Given the description of an element on the screen output the (x, y) to click on. 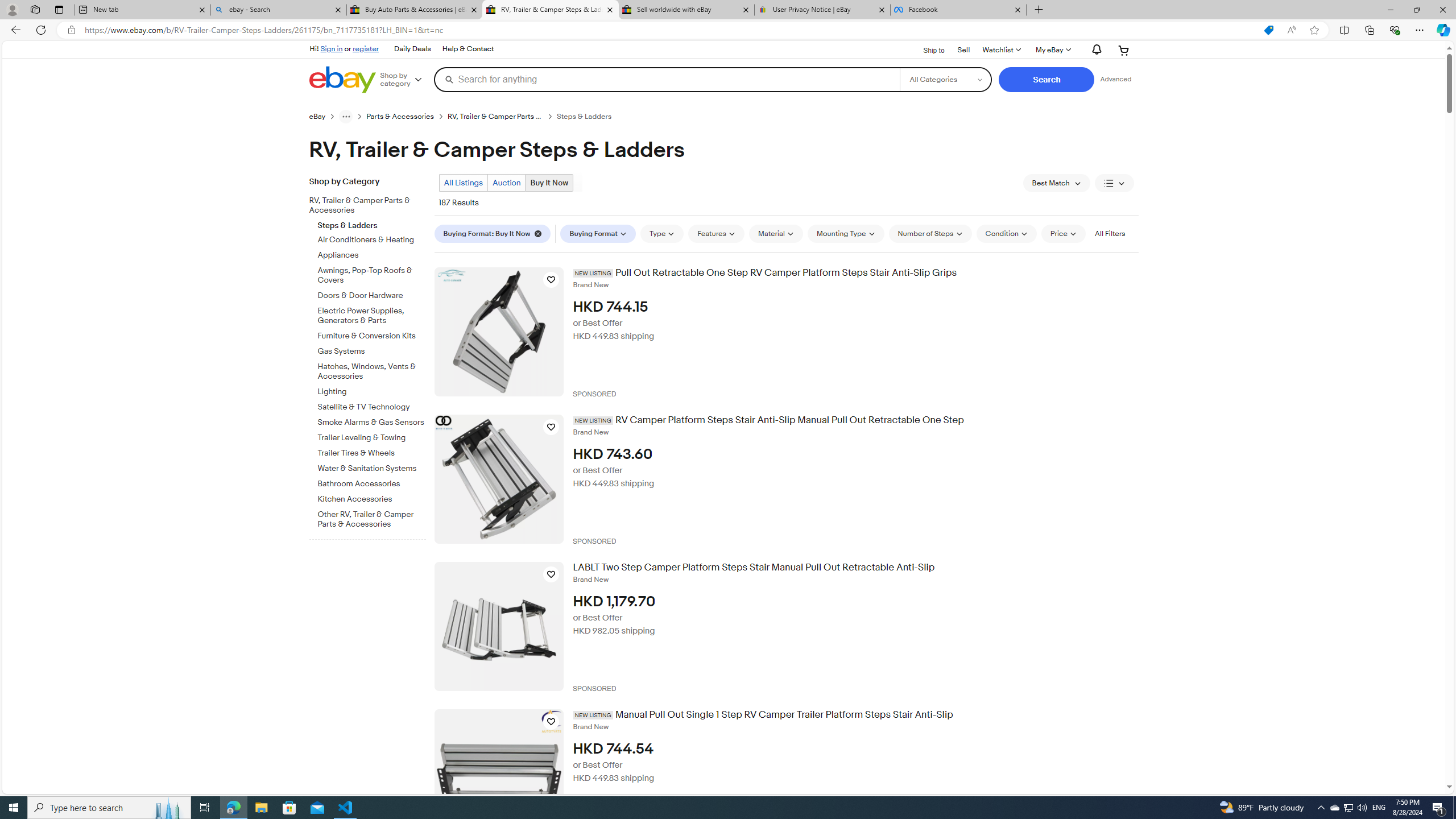
All Filters (1109, 233)
Mounting Type (844, 233)
Air Conditioners & Heating (371, 240)
Awnings, Pop-Top Roofs & Covers (371, 275)
Help & Contact (467, 49)
Number of Steps (930, 233)
Hatches, Windows, Vents & Accessories (371, 371)
Kitchen Accessories (371, 499)
Expand Cart (1123, 49)
Buy It Now Current view (548, 182)
Number of Steps (930, 233)
Features (716, 233)
Buying Format: Buy It Now - Remove Filter (492, 233)
Bathroom Accessories (371, 484)
